Given the description of an element on the screen output the (x, y) to click on. 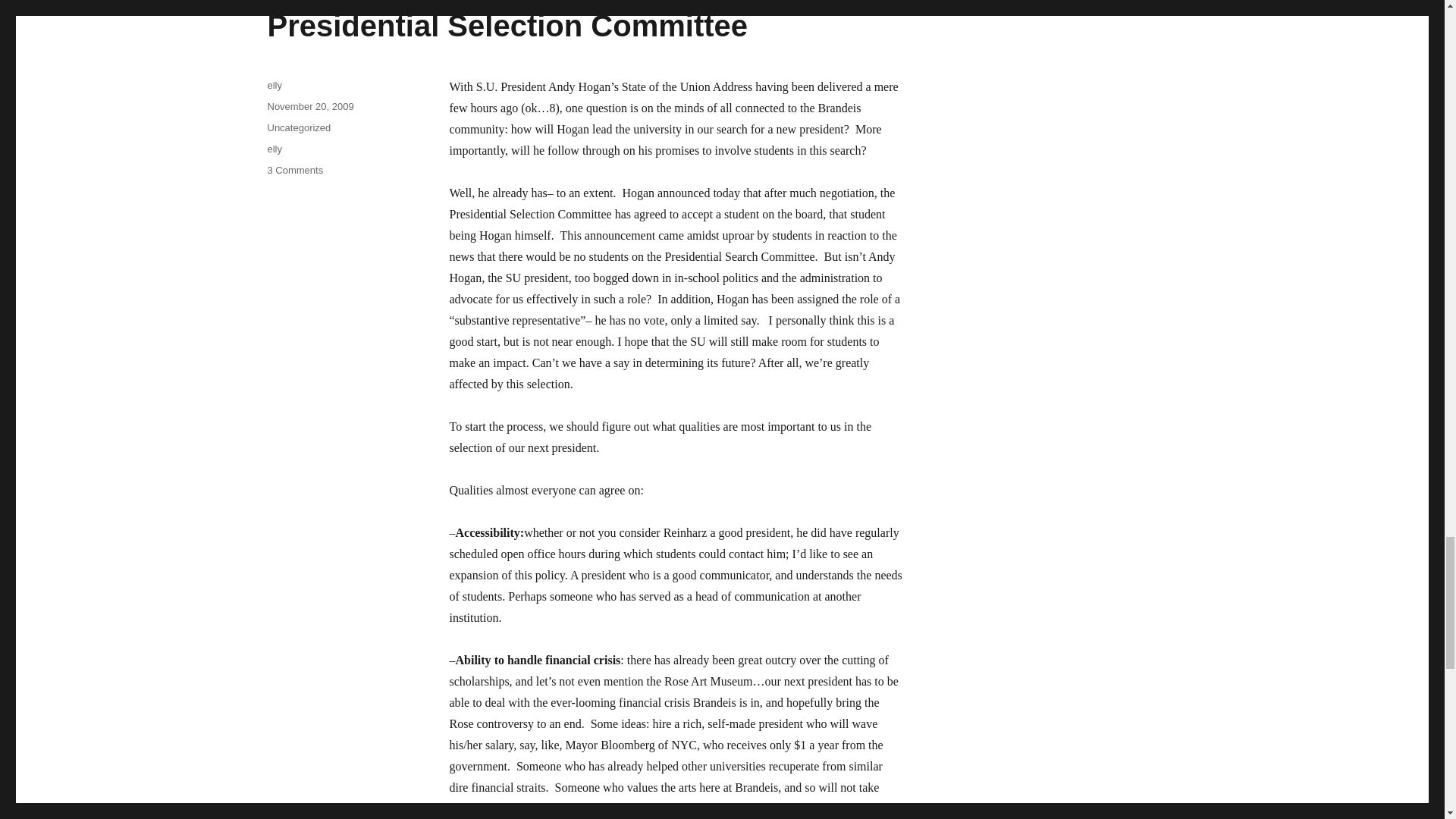
elly (274, 148)
Uncategorized (298, 127)
November 20, 2009 (309, 106)
Presidential Selection Committee (294, 170)
elly (507, 25)
